Given the description of an element on the screen output the (x, y) to click on. 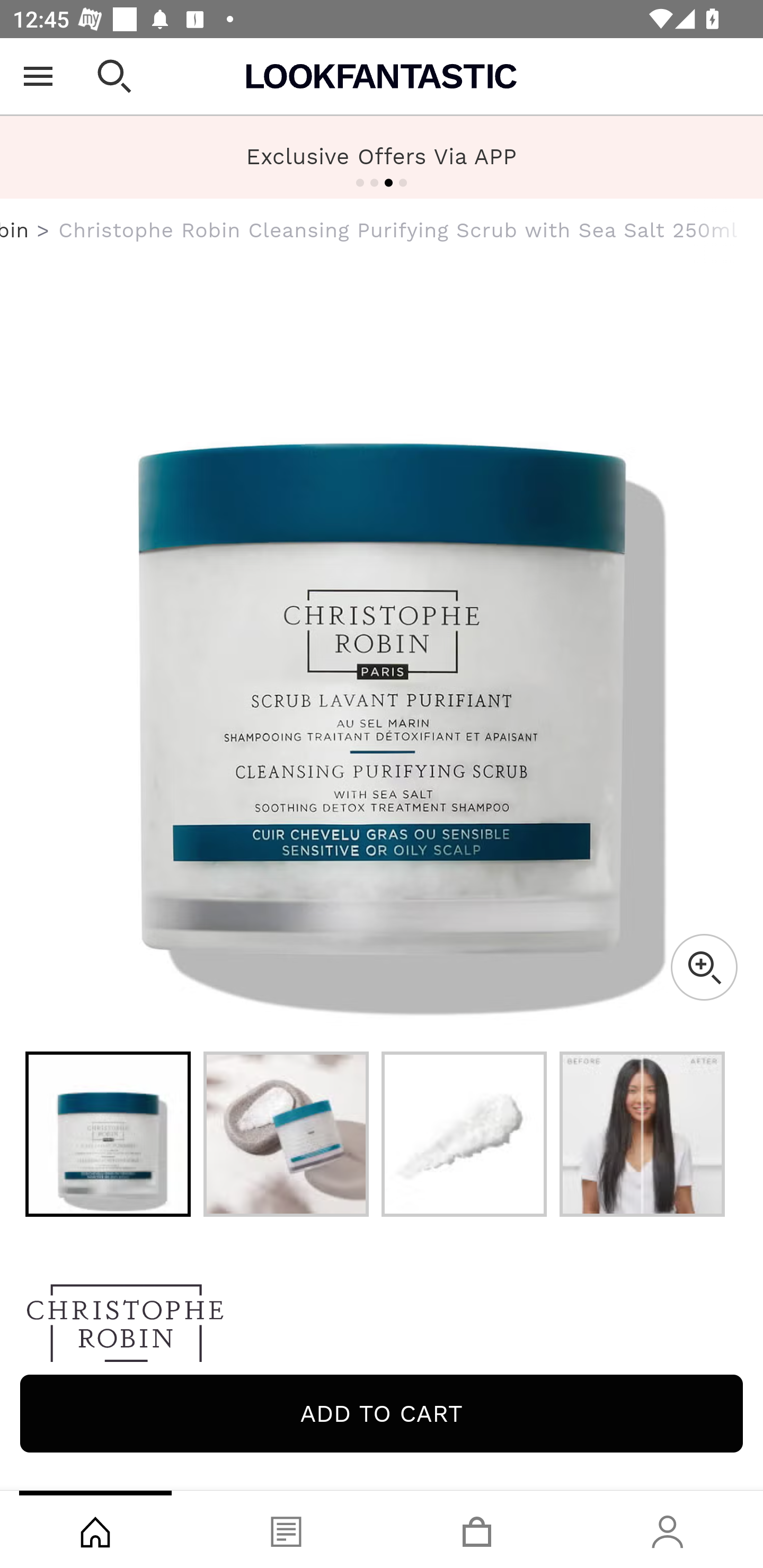
Open Menu (38, 75)
Open search (114, 75)
Lookfantastic USA (381, 75)
Zoom (703, 966)
Christophe Robin (381, 1327)
Add to cart (381, 1413)
Shop, tab, 1 of 4 (95, 1529)
Blog, tab, 2 of 4 (285, 1529)
Basket, tab, 3 of 4 (476, 1529)
Account, tab, 4 of 4 (667, 1529)
